Given the description of an element on the screen output the (x, y) to click on. 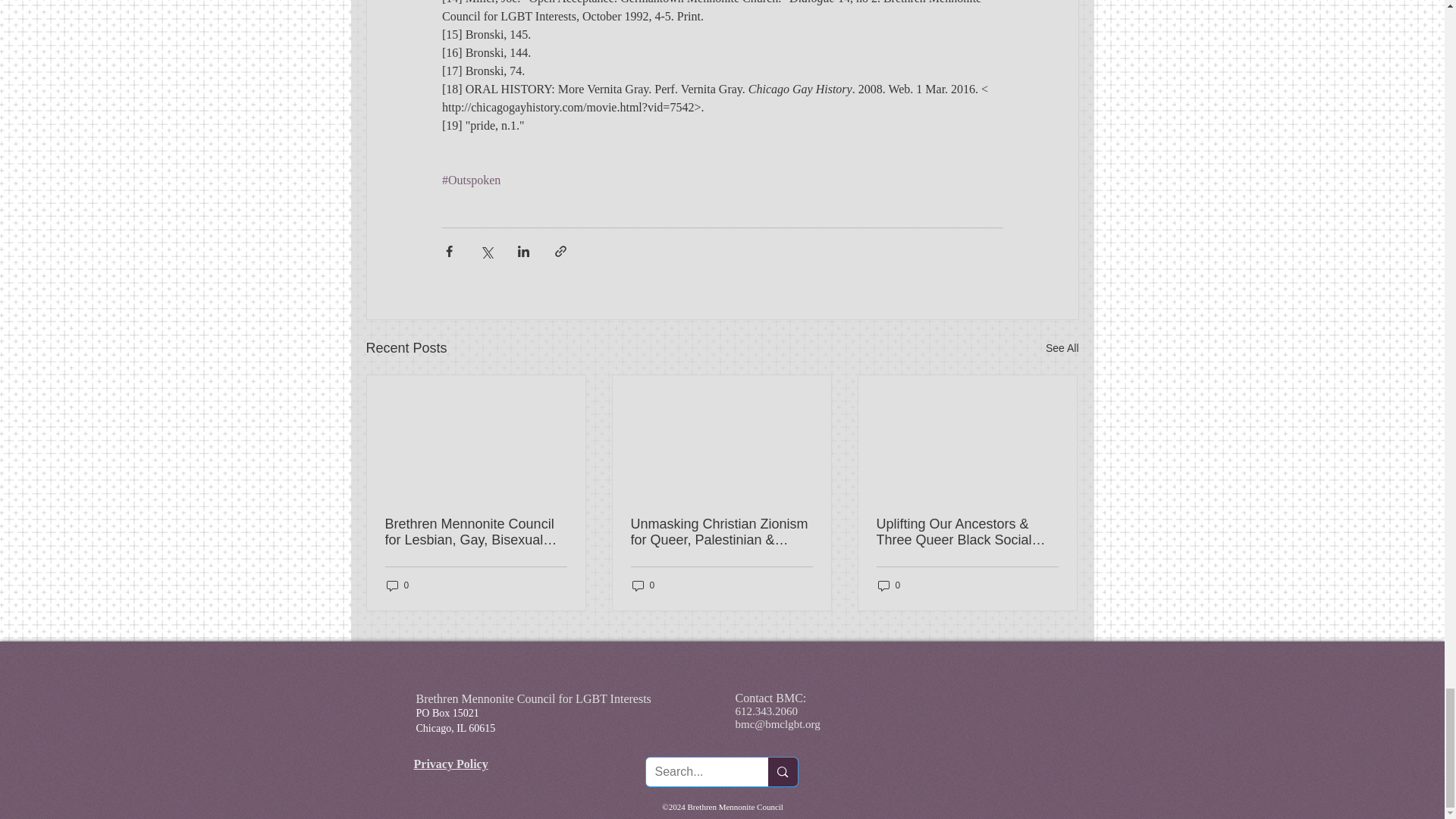
See All (1061, 348)
0 (397, 585)
